Given the description of an element on the screen output the (x, y) to click on. 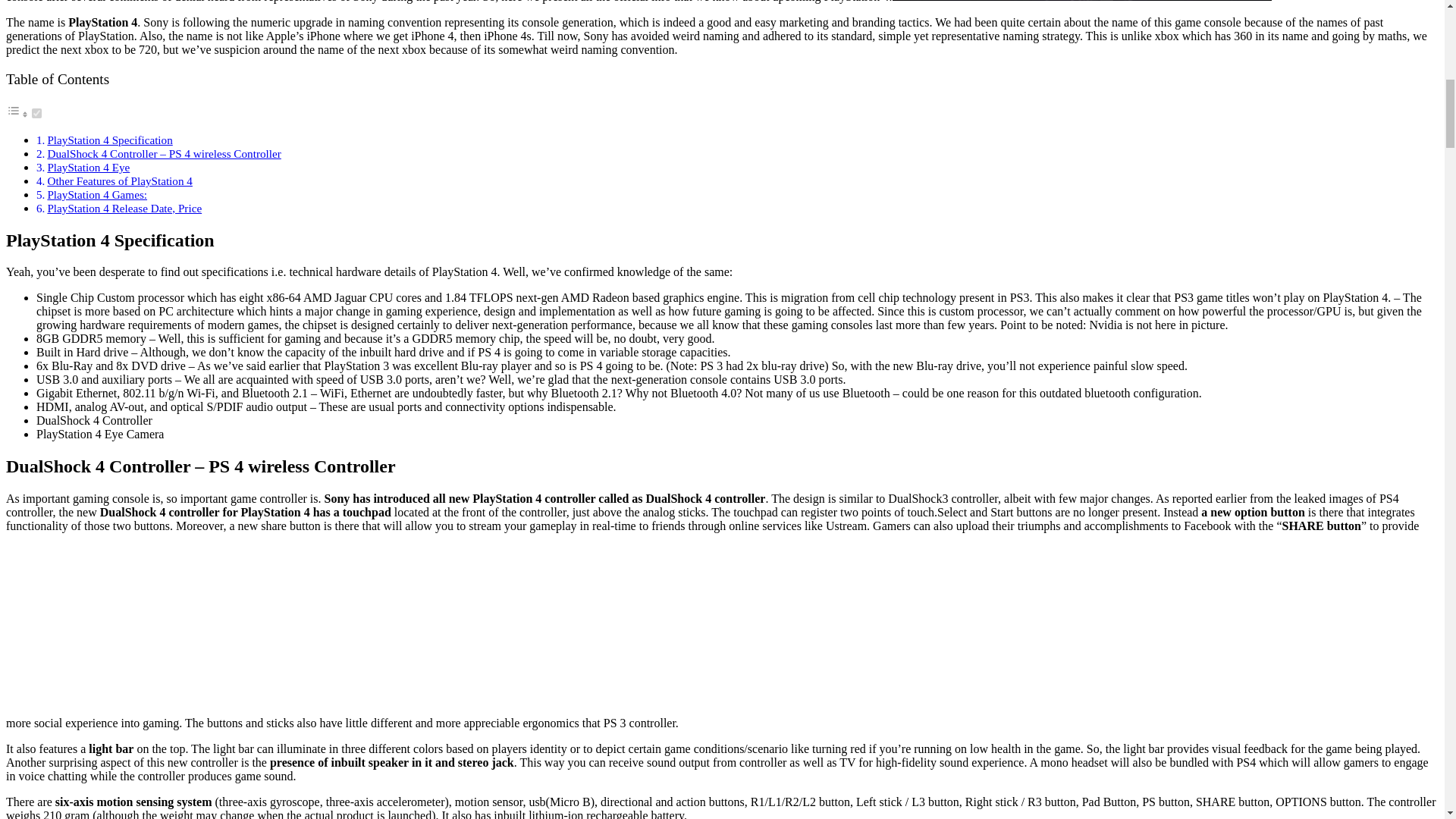
PlayStation 4 Specification (108, 139)
PlayStation 4 Games: (96, 194)
PlayStation 4 Release Date, Price (124, 207)
Other Features of PlayStation 4 (119, 180)
PlayStation 4 Release Date, Price (124, 207)
PlayStation 4 Games: (96, 194)
on (37, 112)
PlayStation 4 Eye (87, 166)
PlayStation 4 Specification (108, 139)
Other Features of PlayStation 4 (119, 180)
PlayStation 4 Eye (87, 166)
